Given the description of an element on the screen output the (x, y) to click on. 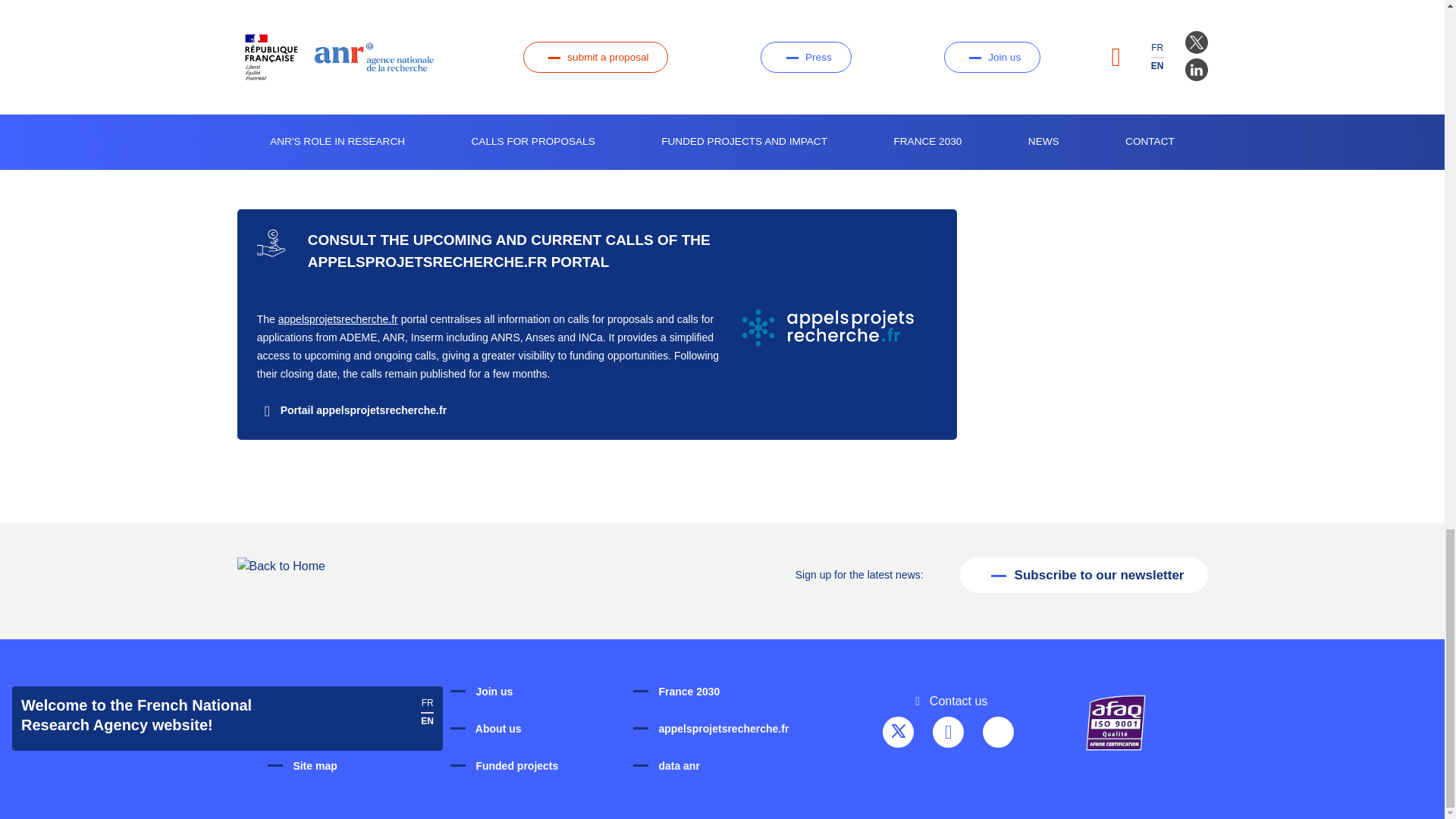
RSS Feeds (997, 731)
Lien vers un site externe (351, 410)
ANR on LinkedIn (948, 731)
